Given the description of an element on the screen output the (x, y) to click on. 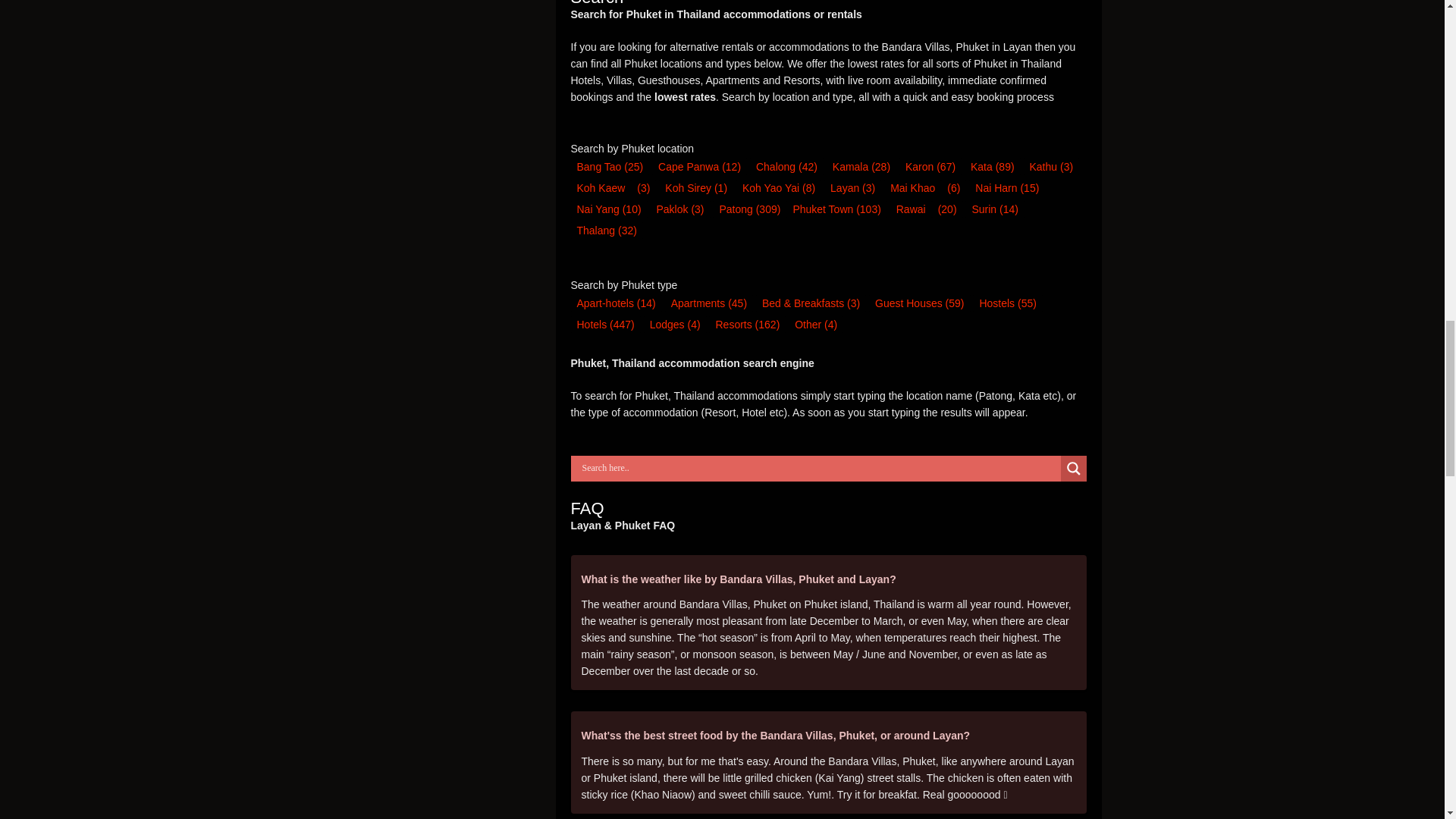
Rawai (910, 209)
Mai Khao (911, 188)
Koh Kaew (600, 188)
